Given the description of an element on the screen output the (x, y) to click on. 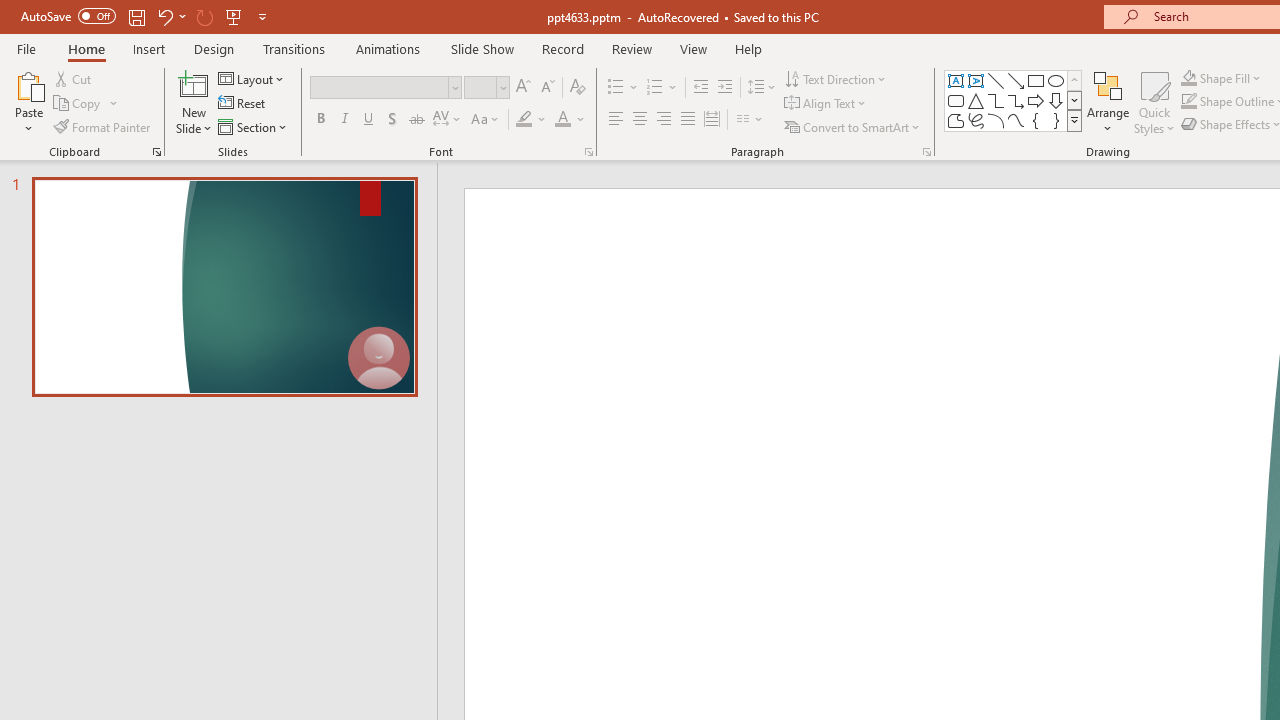
Shape Outline Dark Red, Accent 1 (1188, 101)
